Given the description of an element on the screen output the (x, y) to click on. 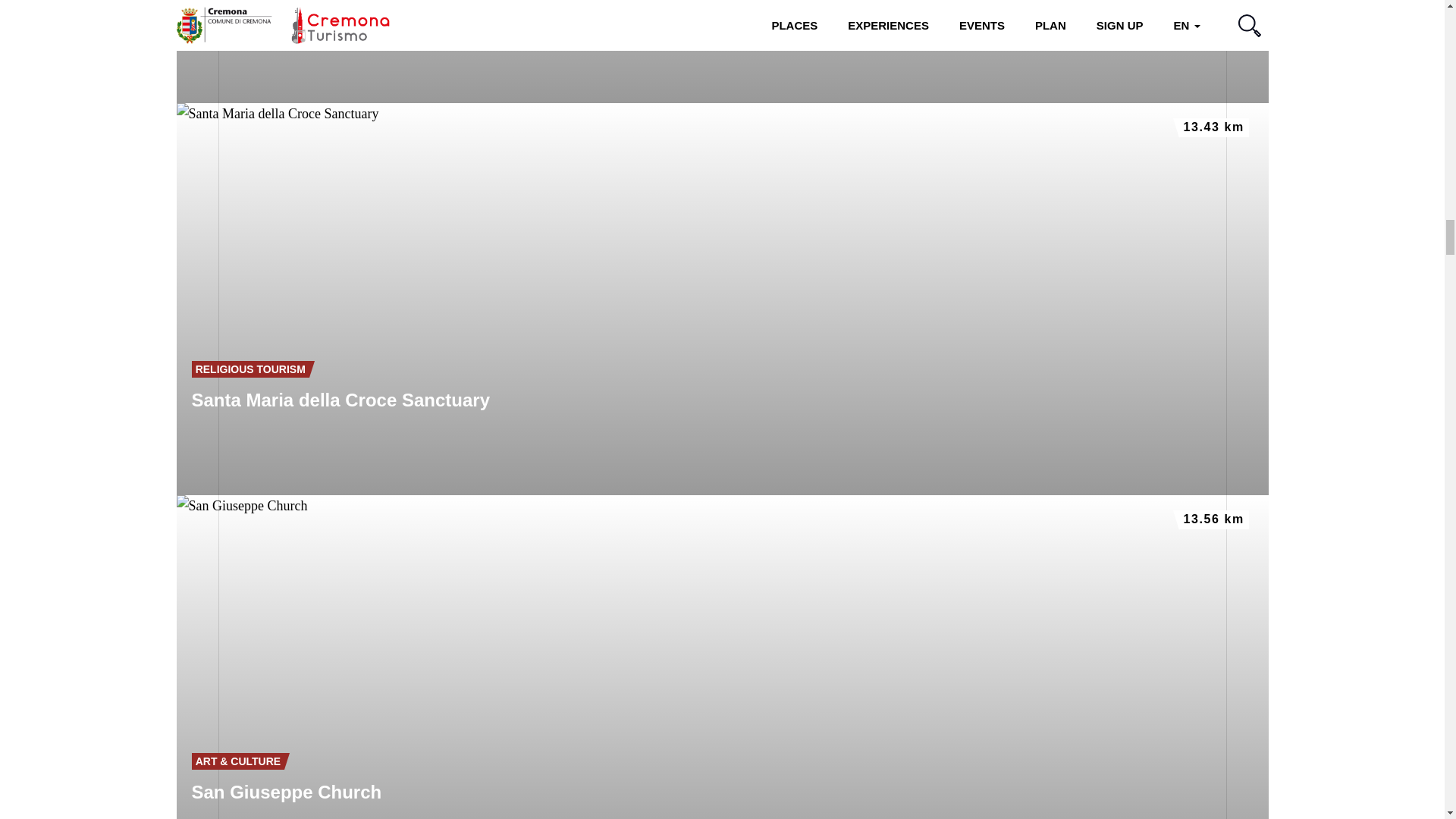
Santa Maria in Bressanoro Church (722, 51)
